Given the description of an element on the screen output the (x, y) to click on. 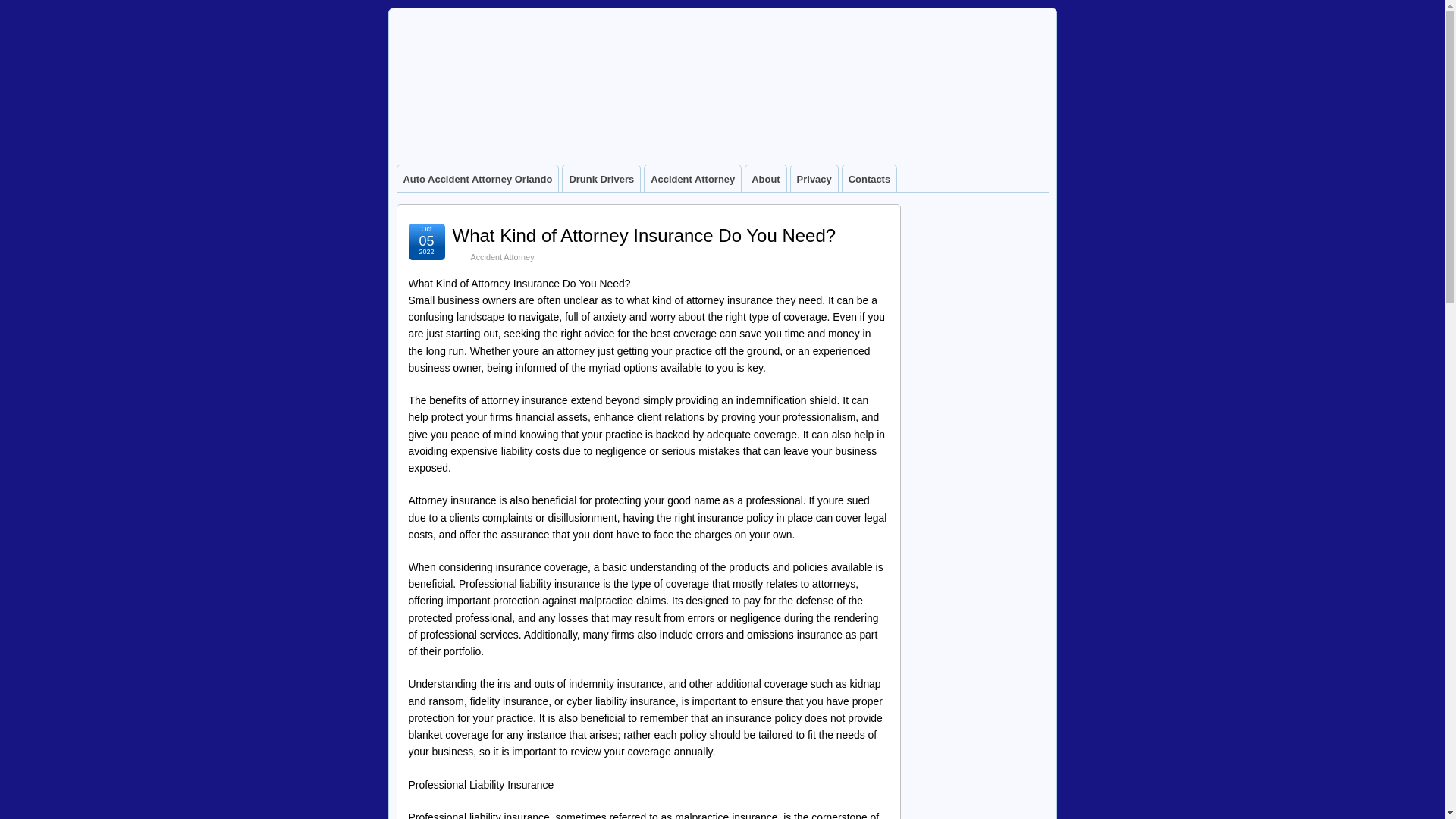
About (765, 178)
Accident Attorney (693, 178)
Drunk Drivers (601, 178)
Auto Accident Attorney Orlando (478, 178)
What Kind of Attorney Insurance Do You Need? (643, 235)
What Kind of Attorney Insurance Do You Need? (643, 235)
Privacy (814, 178)
Contacts (869, 178)
Accident Attorney (502, 256)
